Given the description of an element on the screen output the (x, y) to click on. 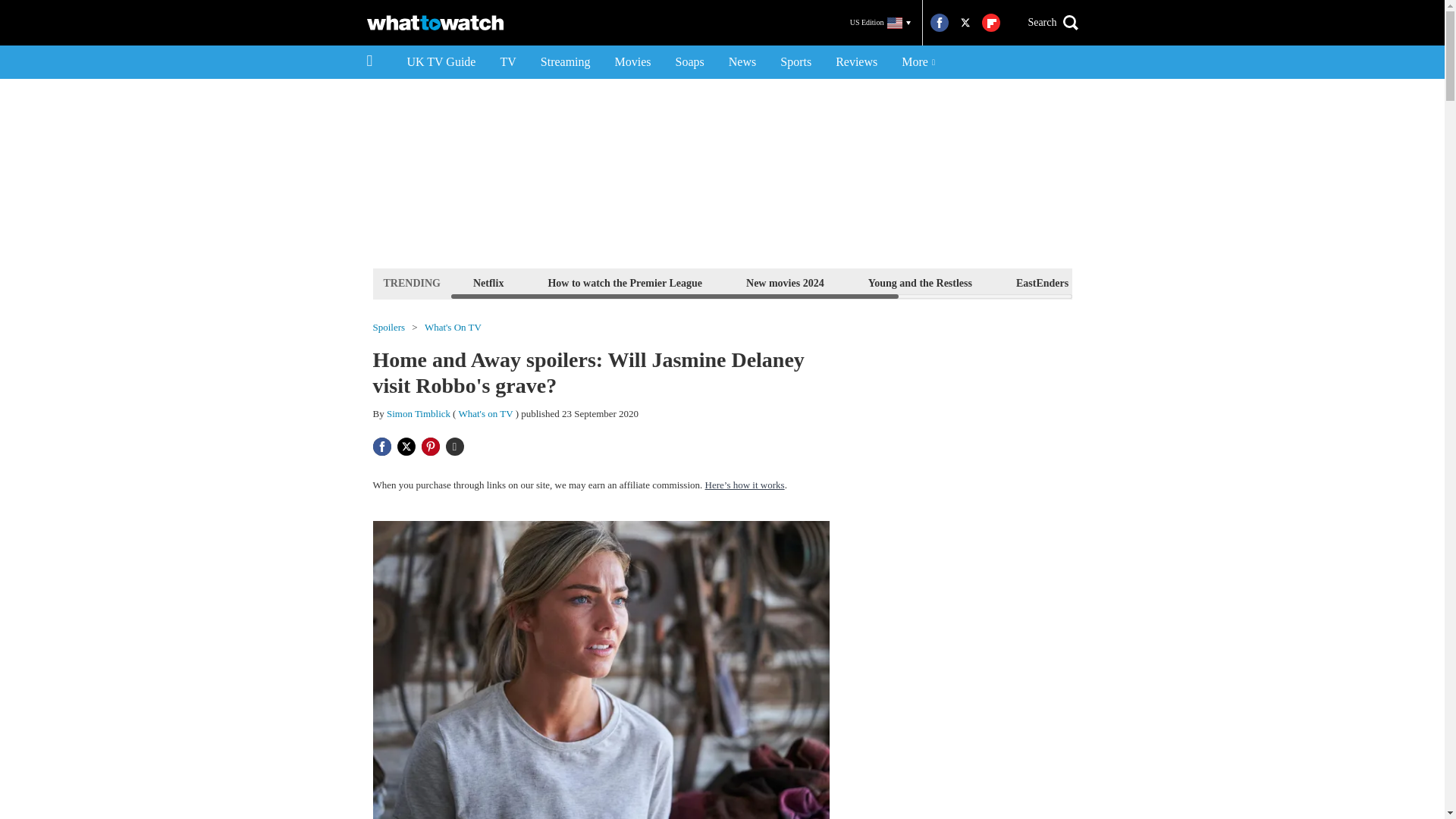
EastEnders (1042, 282)
Movies (632, 61)
Emmerdale (1138, 282)
Soaps (689, 61)
Netflix (487, 282)
Streaming (565, 61)
What's on TV (485, 413)
TV (507, 61)
Sports (796, 61)
UK TV Guide (440, 61)
